Given the description of an element on the screen output the (x, y) to click on. 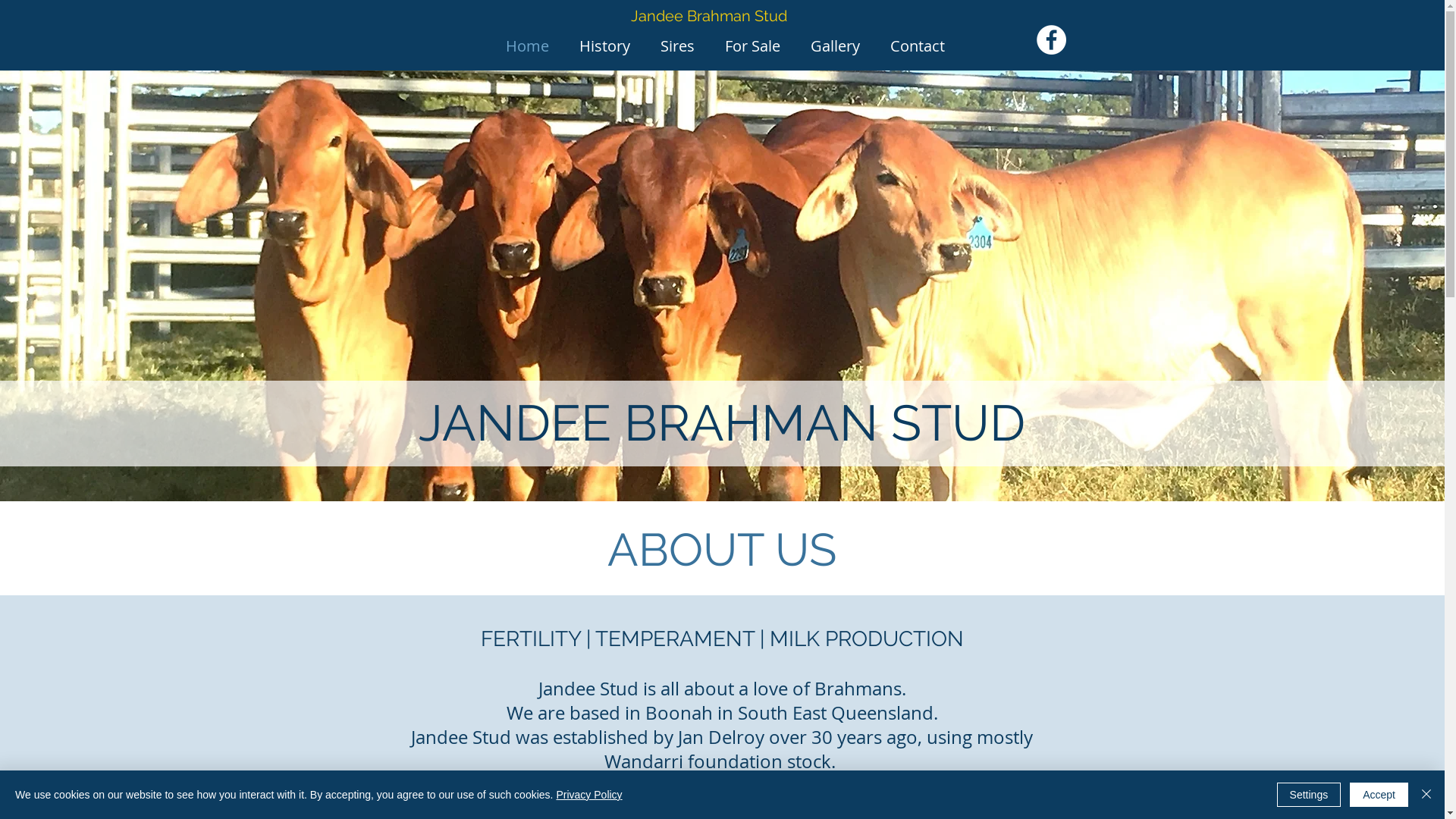
Gallery Element type: text (834, 44)
Accept Element type: text (1378, 794)
Settings Element type: text (1309, 794)
Contact Element type: text (917, 44)
For Sale Element type: text (752, 44)
Sires Element type: text (676, 44)
Privacy Policy Element type: text (588, 794)
Home Element type: text (526, 44)
History Element type: text (604, 44)
